Given the description of an element on the screen output the (x, y) to click on. 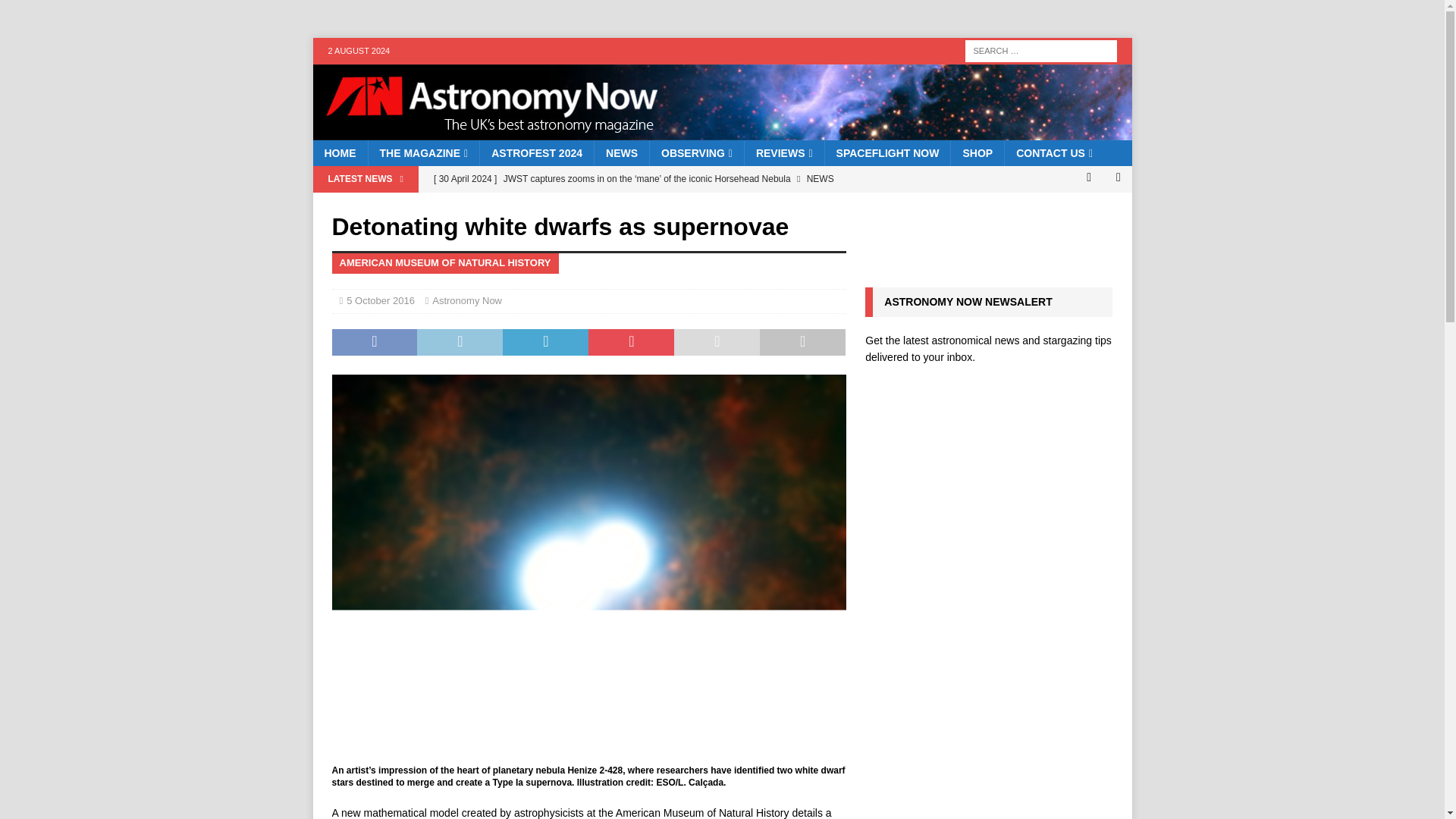
Astronomy Now (467, 300)
5 October 2016 (380, 300)
ASTROFEST 2024 (536, 153)
HOME (339, 153)
SHOP (977, 153)
REVIEWS (784, 153)
OBSERVING (696, 153)
NEWS (621, 153)
Astronomy Now (722, 132)
Search (56, 11)
SPACEFLIGHT NOW (887, 153)
THE MAGAZINE (422, 153)
CONTACT US (1053, 153)
